Given the description of an element on the screen output the (x, y) to click on. 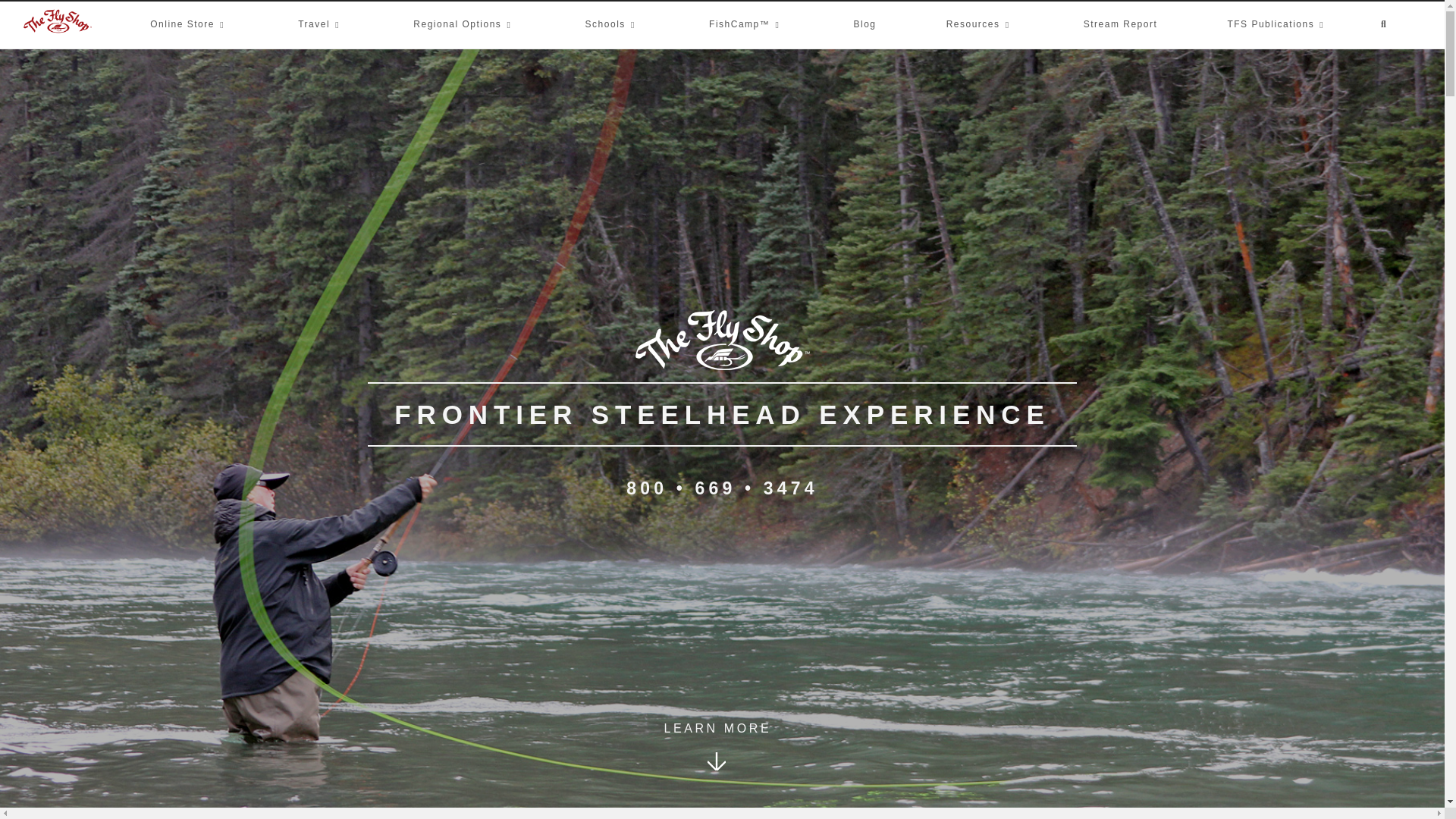
Travel (320, 24)
THE FLY SHOP (1208, 36)
LEARN MORE (715, 767)
Online Store (189, 24)
